Given the description of an element on the screen output the (x, y) to click on. 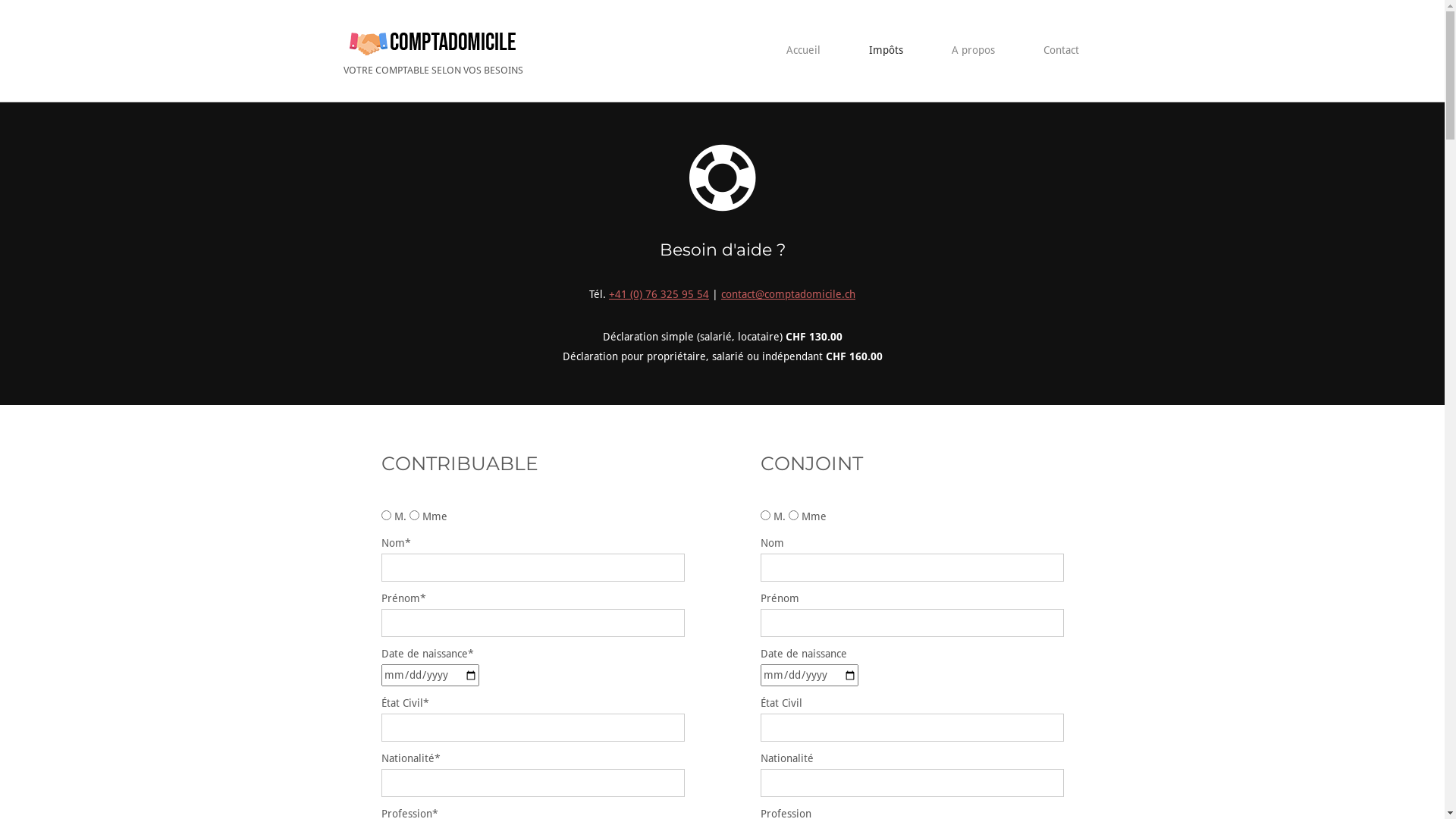
contact@comptadomicile.ch Element type: text (788, 294)
A propos Element type: text (972, 50)
Accueil Element type: text (802, 50)
Skip to content Element type: text (0, 0)
+41 (0) 76 325 95 54 Element type: text (658, 294)
Contact Element type: text (1060, 50)
Home Element type: text (434, 40)
